Given the description of an element on the screen output the (x, y) to click on. 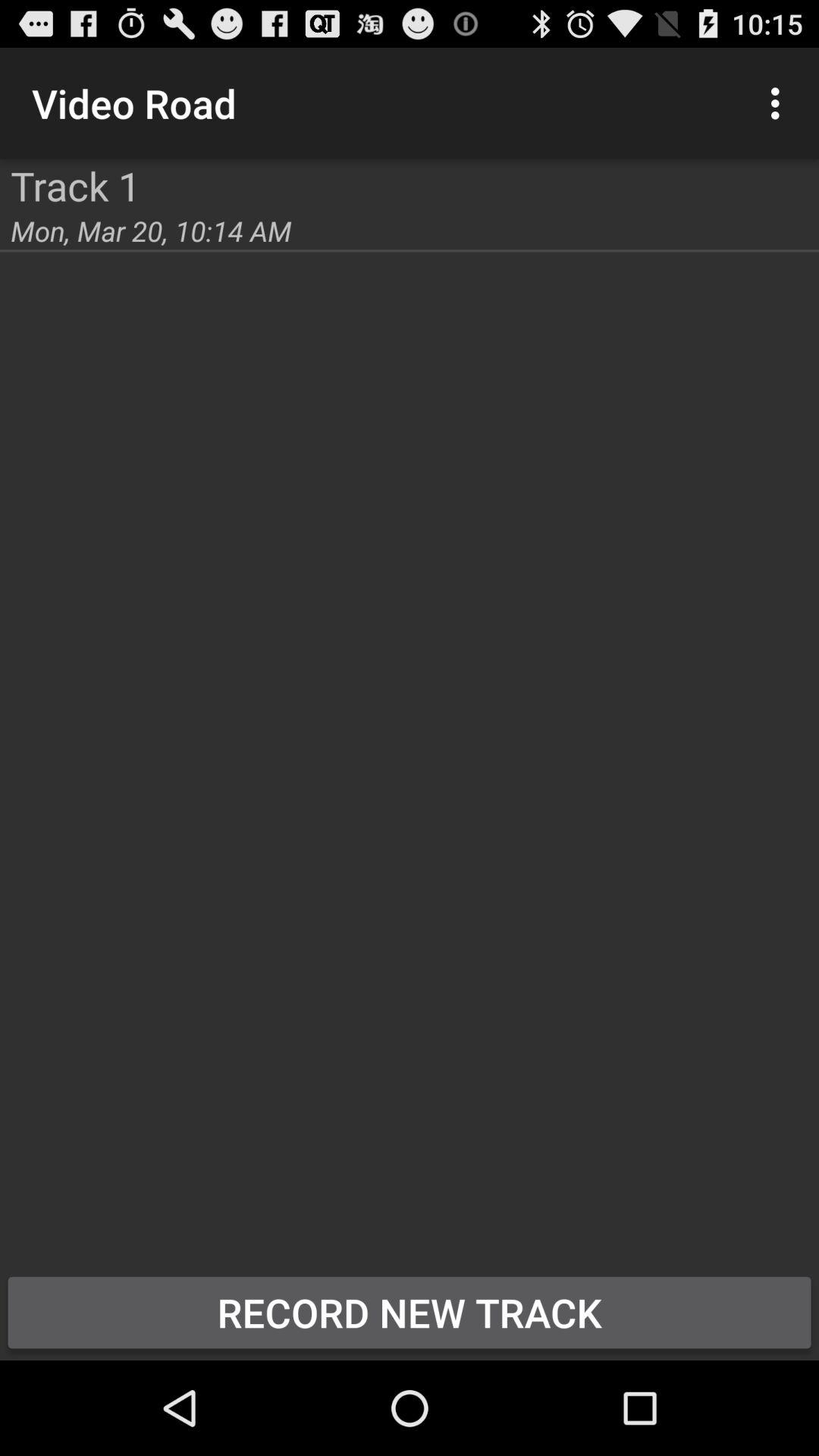
open the item above the record new track button (150, 230)
